Given the description of an element on the screen output the (x, y) to click on. 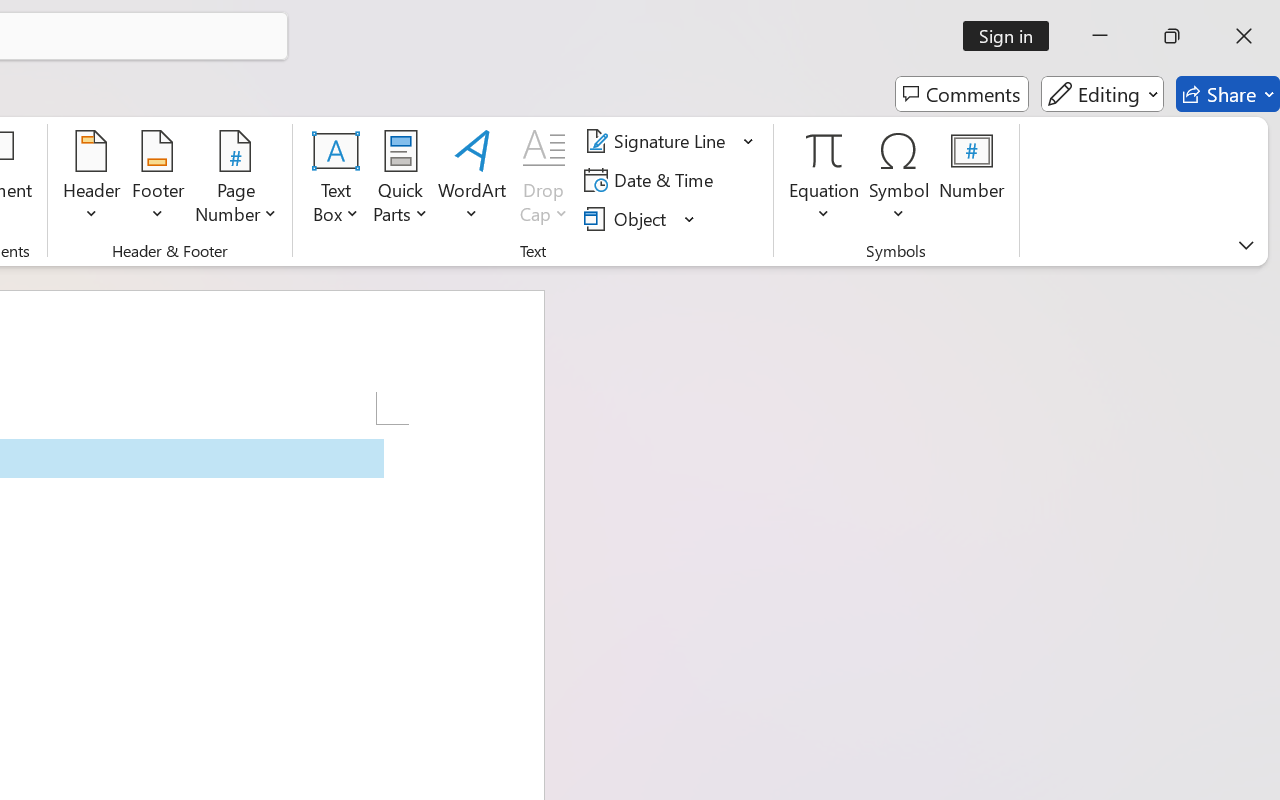
Signature Line (669, 141)
Page Number (236, 179)
Object... (628, 218)
Editing (1101, 94)
Sign in (1012, 35)
Equation (823, 150)
Symbol (899, 179)
Signature Line (658, 141)
Header (92, 179)
Text Box (335, 179)
Equation (823, 179)
